Given the description of an element on the screen output the (x, y) to click on. 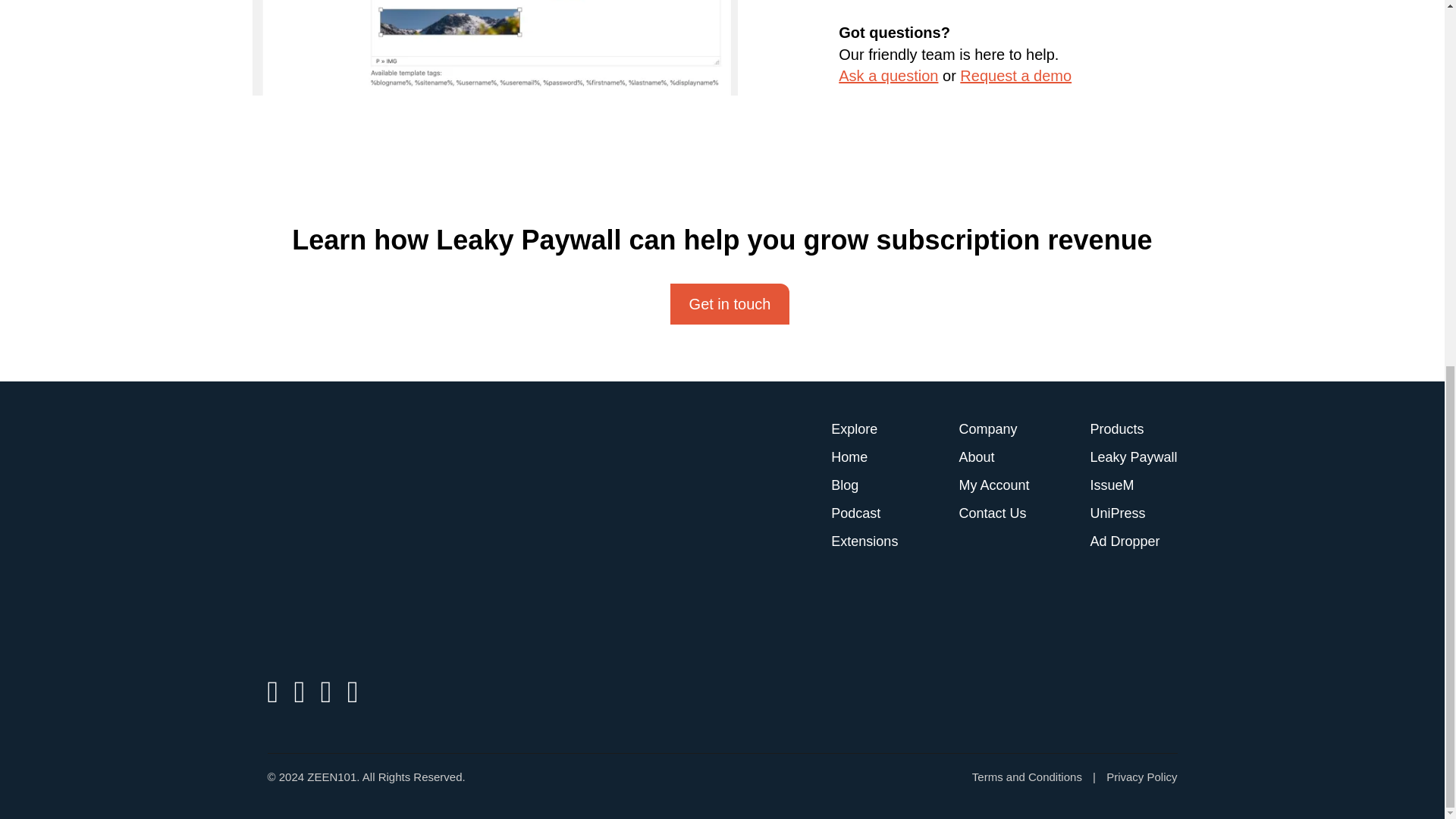
UniPress (1116, 513)
IssueM (1111, 485)
About (976, 457)
Ad Dropper (1123, 540)
Terms and Conditions (1026, 776)
Request a demo (1015, 75)
Blog (845, 485)
Podcast (855, 513)
Home (849, 457)
My Account (993, 485)
